Given the description of an element on the screen output the (x, y) to click on. 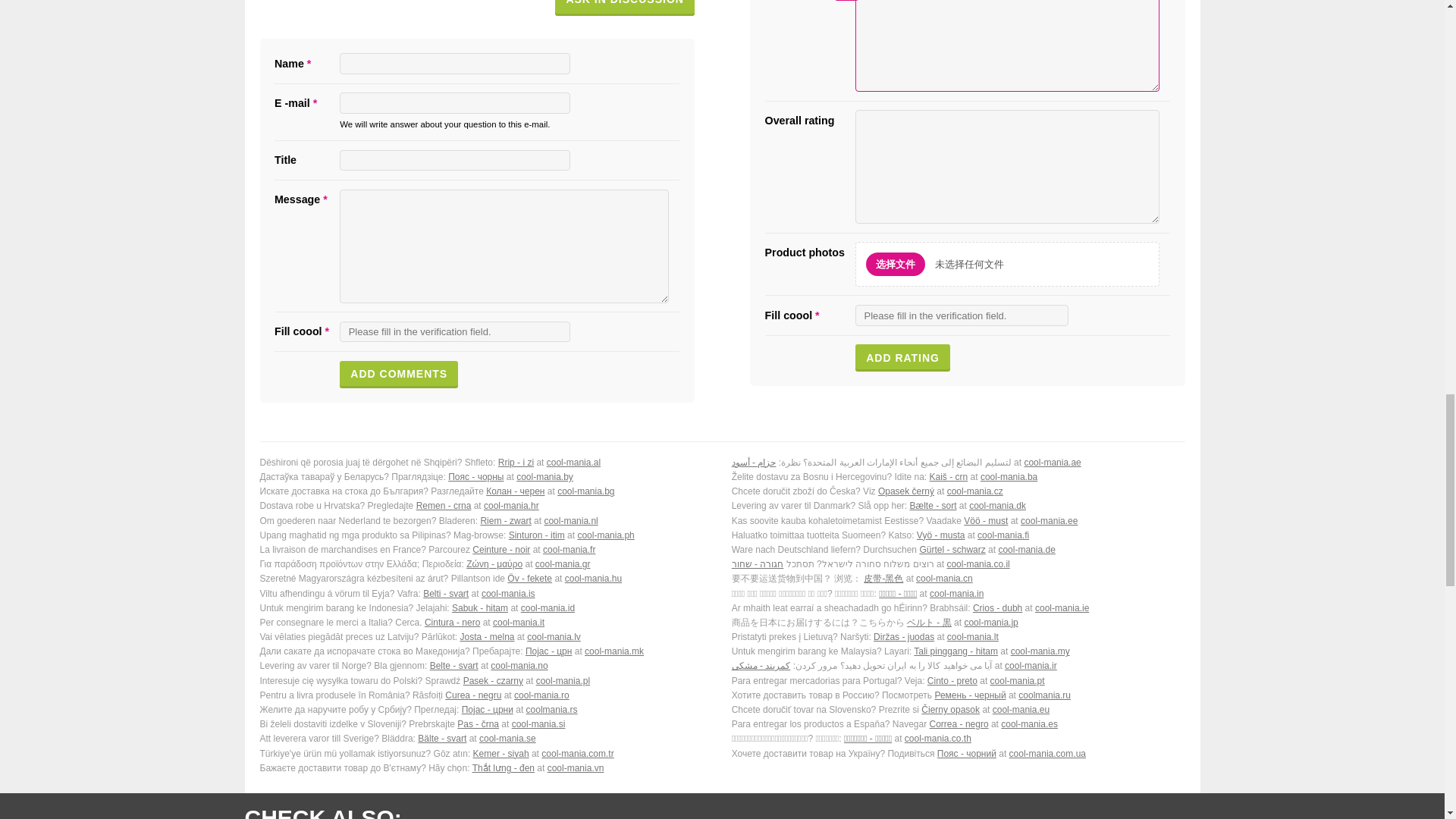
Add rating (903, 357)
ASK IN DISCUSSION (624, 7)
To deliver goods worldwide? Browse: (958, 505)
cool-mania.ae (1051, 462)
To deliver goods worldwide? Browse: (486, 462)
To deliver goods worldwide? Browse: (958, 521)
cool-mania.al (573, 462)
To deliver goods worldwide? Browse: (958, 462)
To deliver goods worldwide? Browse: (486, 477)
Add comments (398, 374)
